Given the description of an element on the screen output the (x, y) to click on. 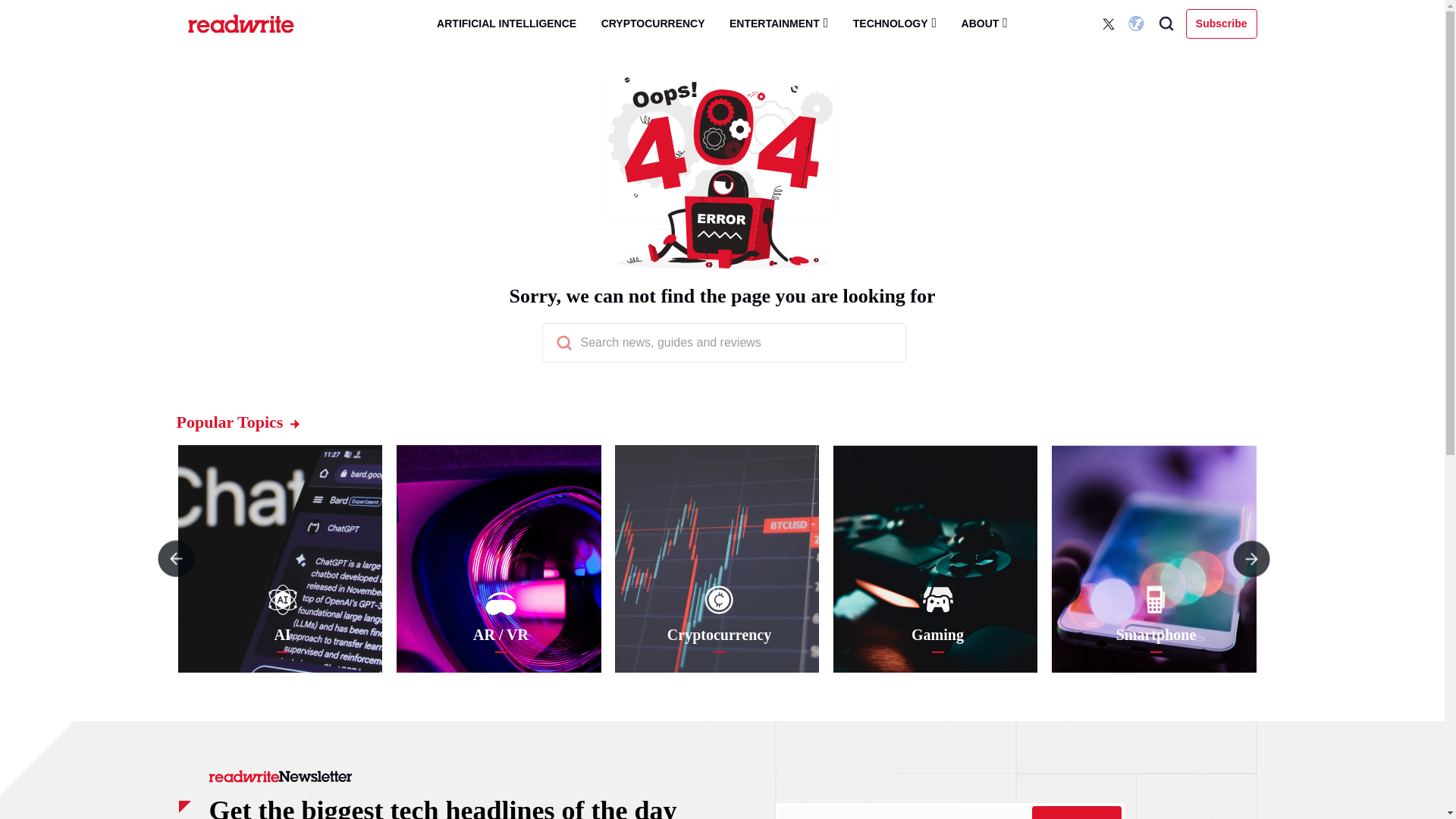
ENTERTAINMENT (778, 23)
Subscribe (1221, 23)
English (1137, 23)
Subscribe (1075, 812)
CRYPTOCURRENCY (653, 23)
ABOUT (983, 23)
TECHNOLOGY (895, 23)
ARTIFICIAL INTELLIGENCE (506, 23)
